Given the description of an element on the screen output the (x, y) to click on. 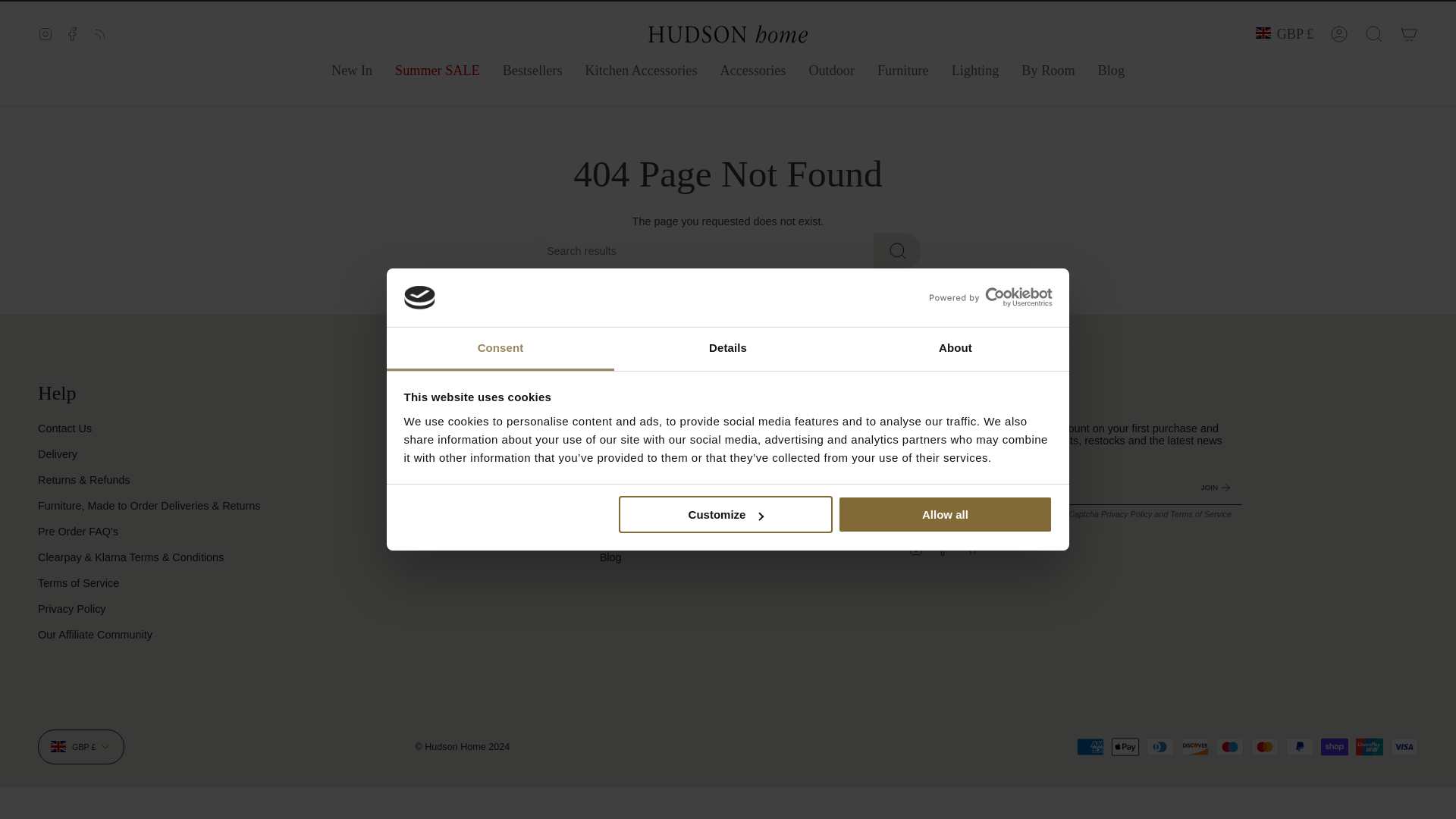
Hudson Home on Feed (100, 33)
Search (1373, 33)
Consent (500, 323)
Hudson Home on Instagram (44, 33)
My Account (1339, 33)
Details (727, 323)
About (954, 323)
Hudson Home on Facebook (72, 33)
